Given the description of an element on the screen output the (x, y) to click on. 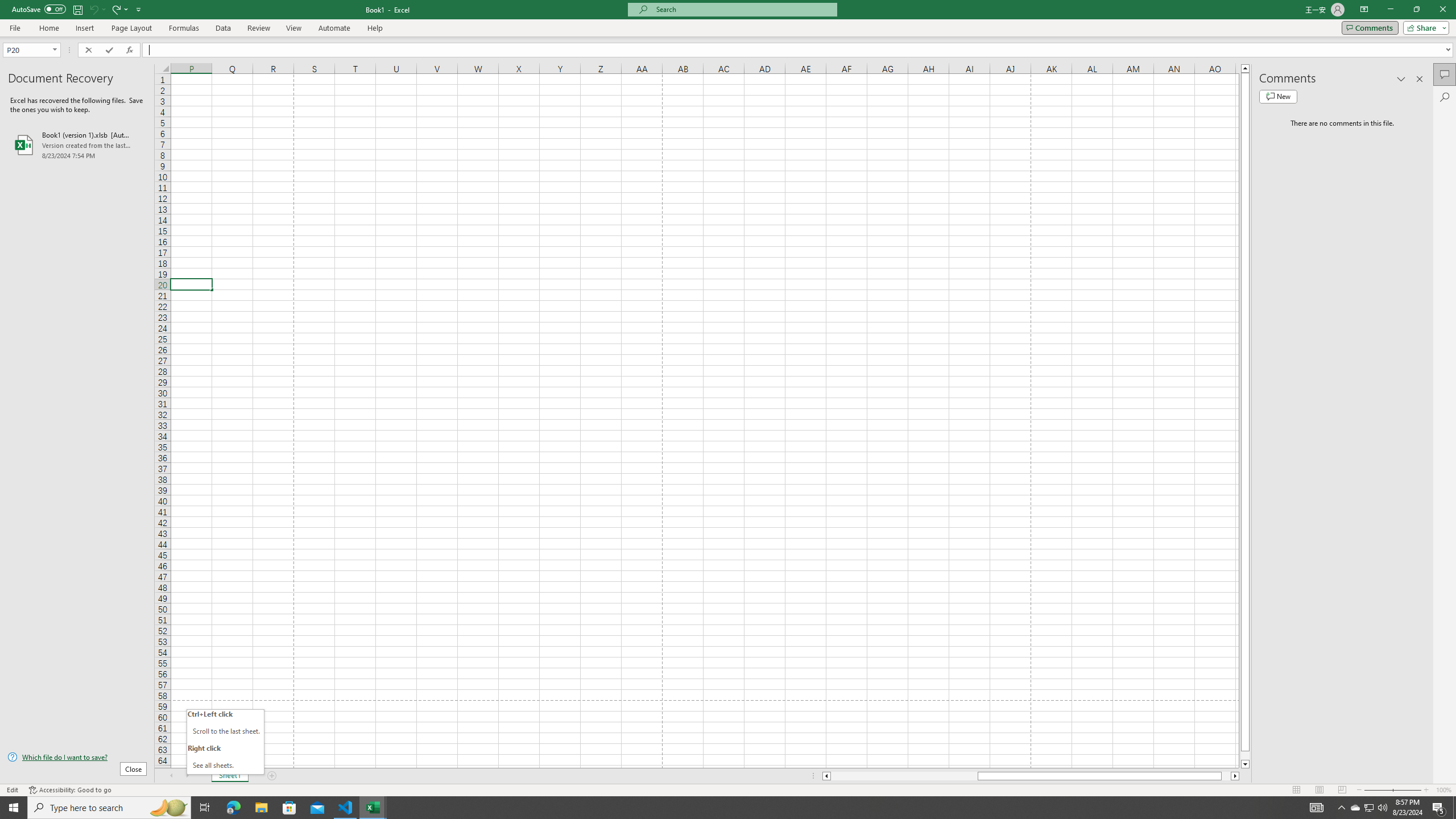
New comment (1278, 96)
